Given the description of an element on the screen output the (x, y) to click on. 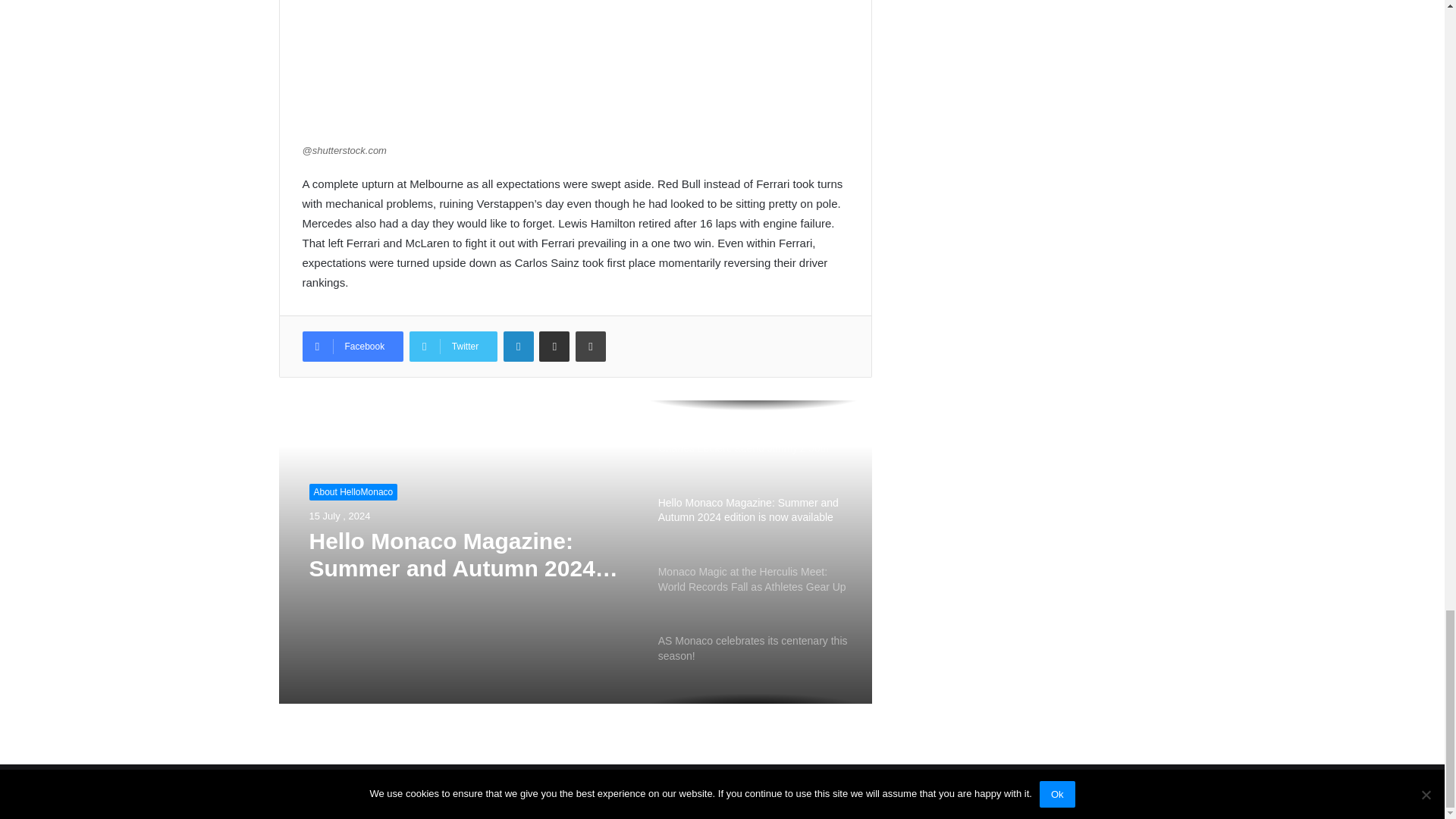
LinkedIn (518, 346)
Twitter (453, 346)
Facebook (352, 346)
Share via Email (553, 346)
Print (590, 346)
